Given the description of an element on the screen output the (x, y) to click on. 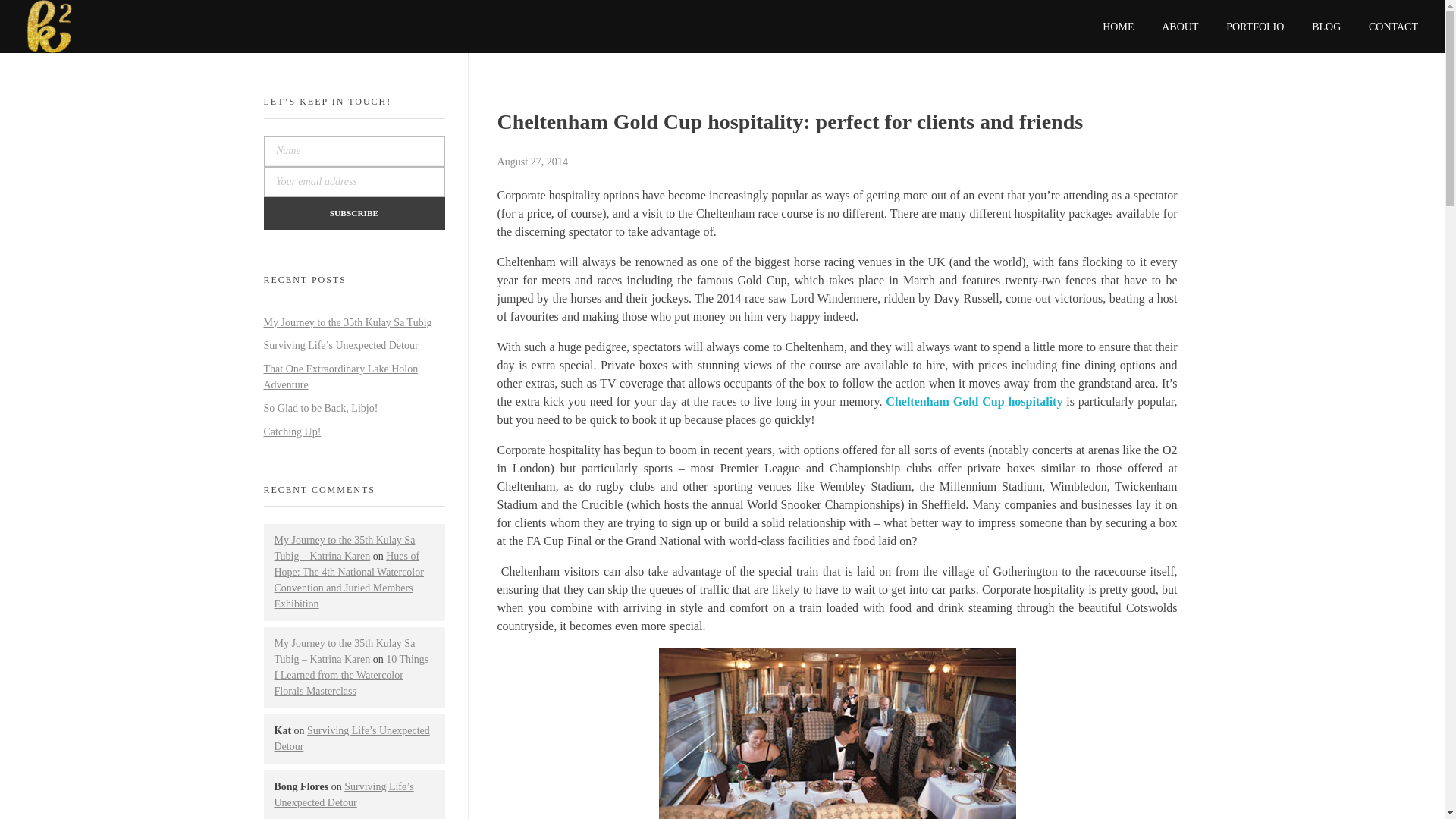
So Glad to be Back, Libjo! (320, 408)
CONTACT (1386, 22)
HOME (1125, 13)
Cheltenham Gold Cup hospitality (973, 400)
PORTFOLIO (1255, 18)
Catching Up! (292, 431)
My Journey to the 35th Kulay Sa Tubig (347, 322)
Subscribe (354, 213)
Subscribe (354, 213)
